Given the description of an element on the screen output the (x, y) to click on. 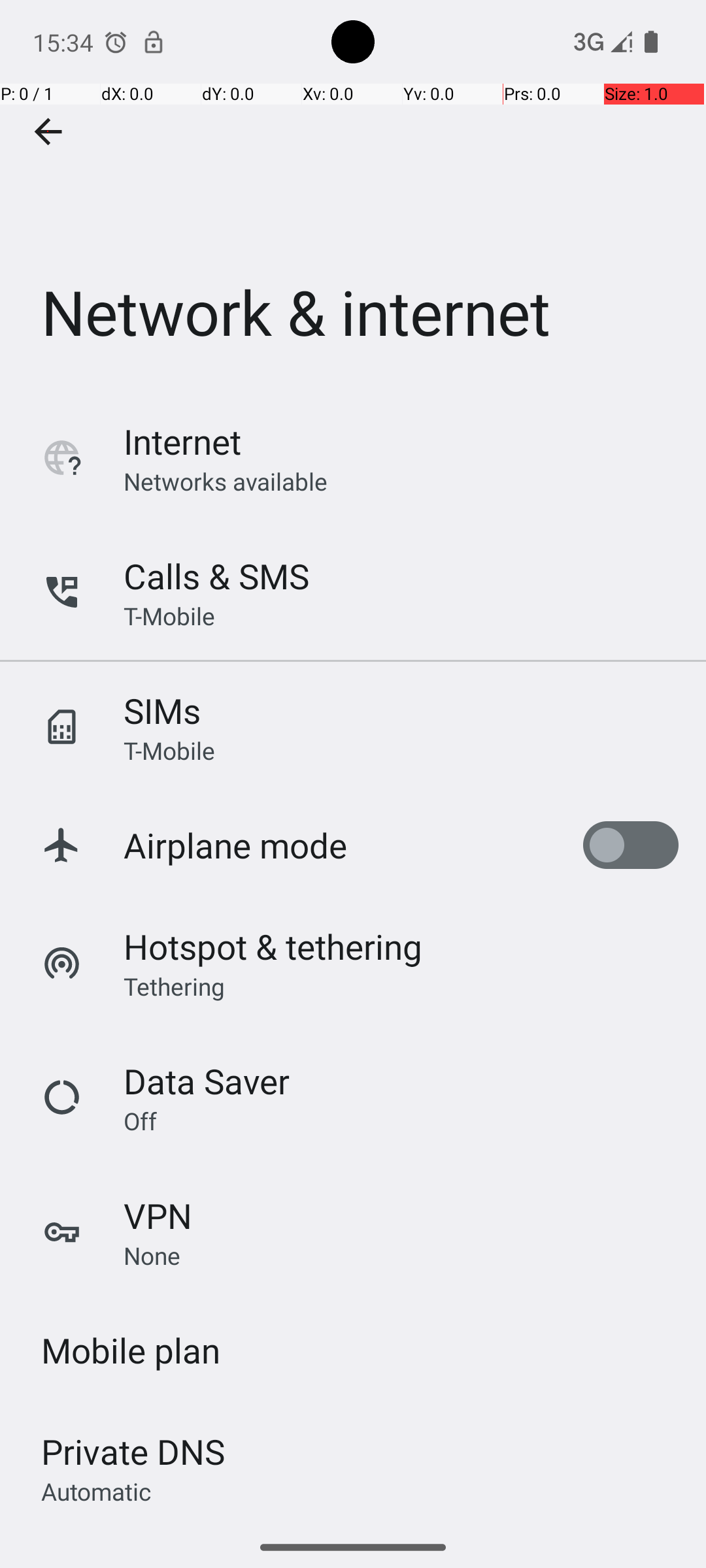
Tethering Element type: android.widget.TextView (174, 985)
